Given the description of an element on the screen output the (x, y) to click on. 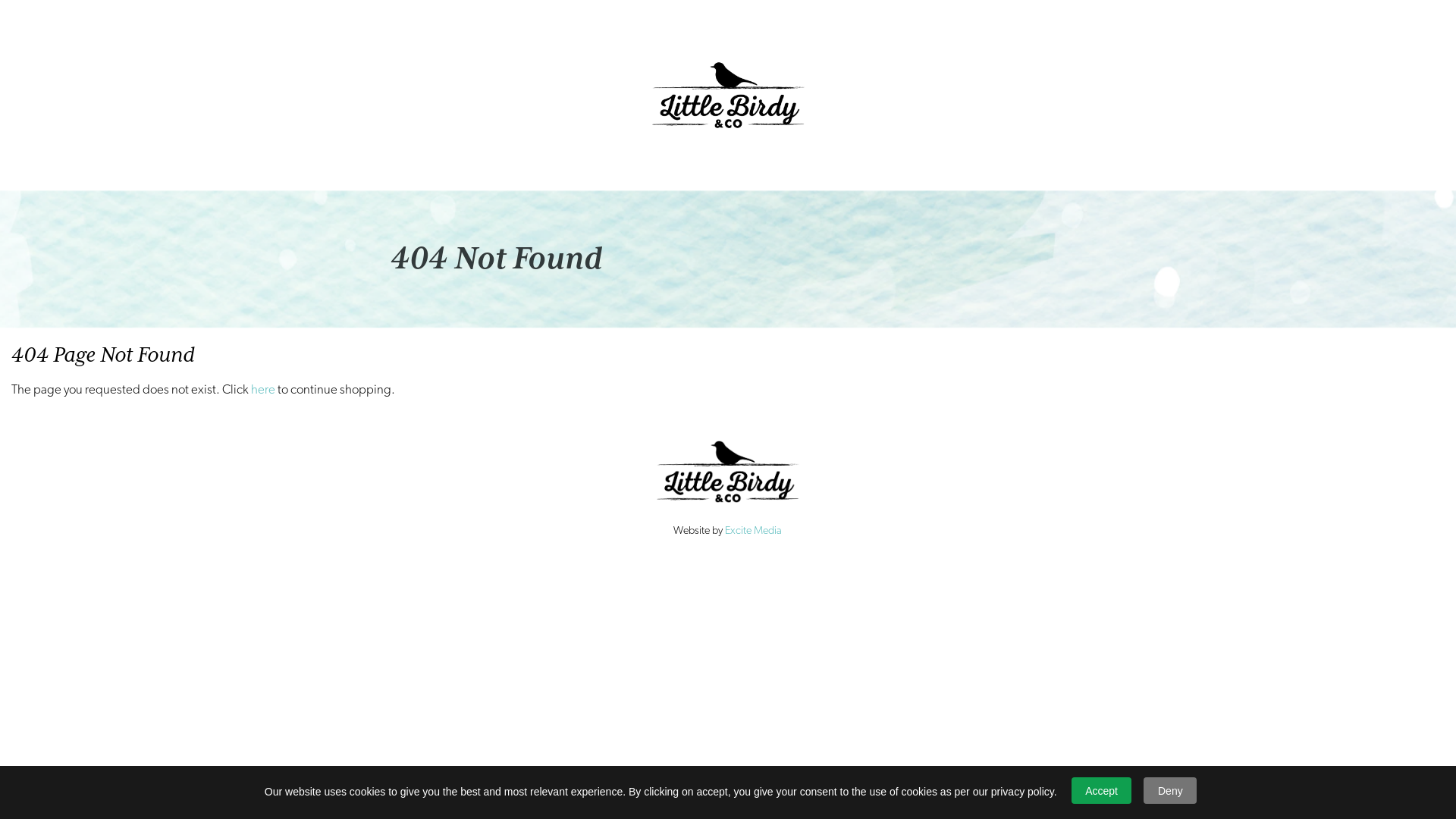
Excite Media Element type: text (752, 530)
here Element type: text (263, 389)
